Given the description of an element on the screen output the (x, y) to click on. 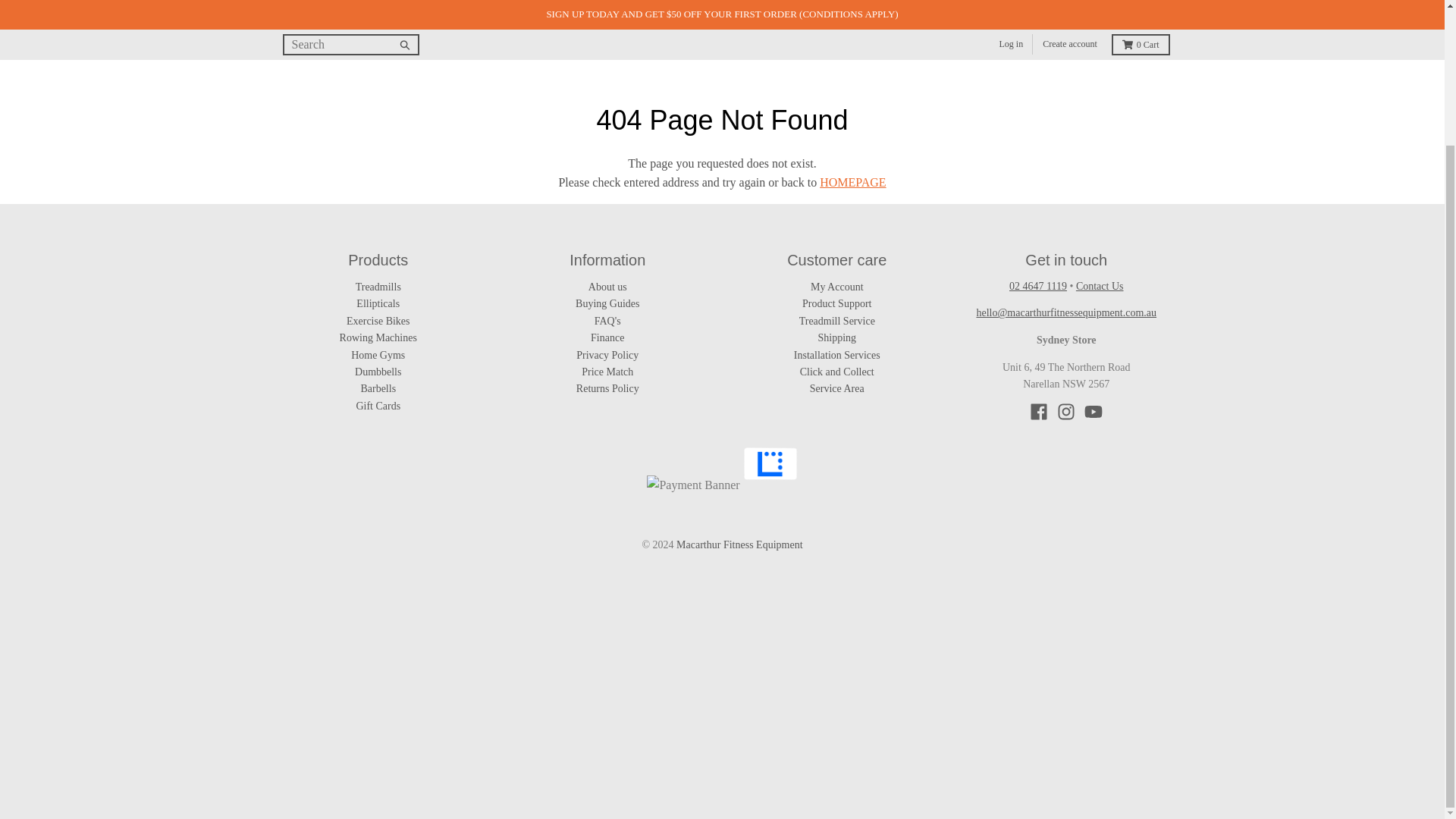
CARDIO (397, 42)
Instagram - Macarthur Fitness Equipment (1066, 411)
Facebook - Macarthur Fitness Equipment (1038, 411)
STRENGTH (480, 42)
YouTube - Macarthur Fitness Equipment (1093, 411)
